Given the description of an element on the screen output the (x, y) to click on. 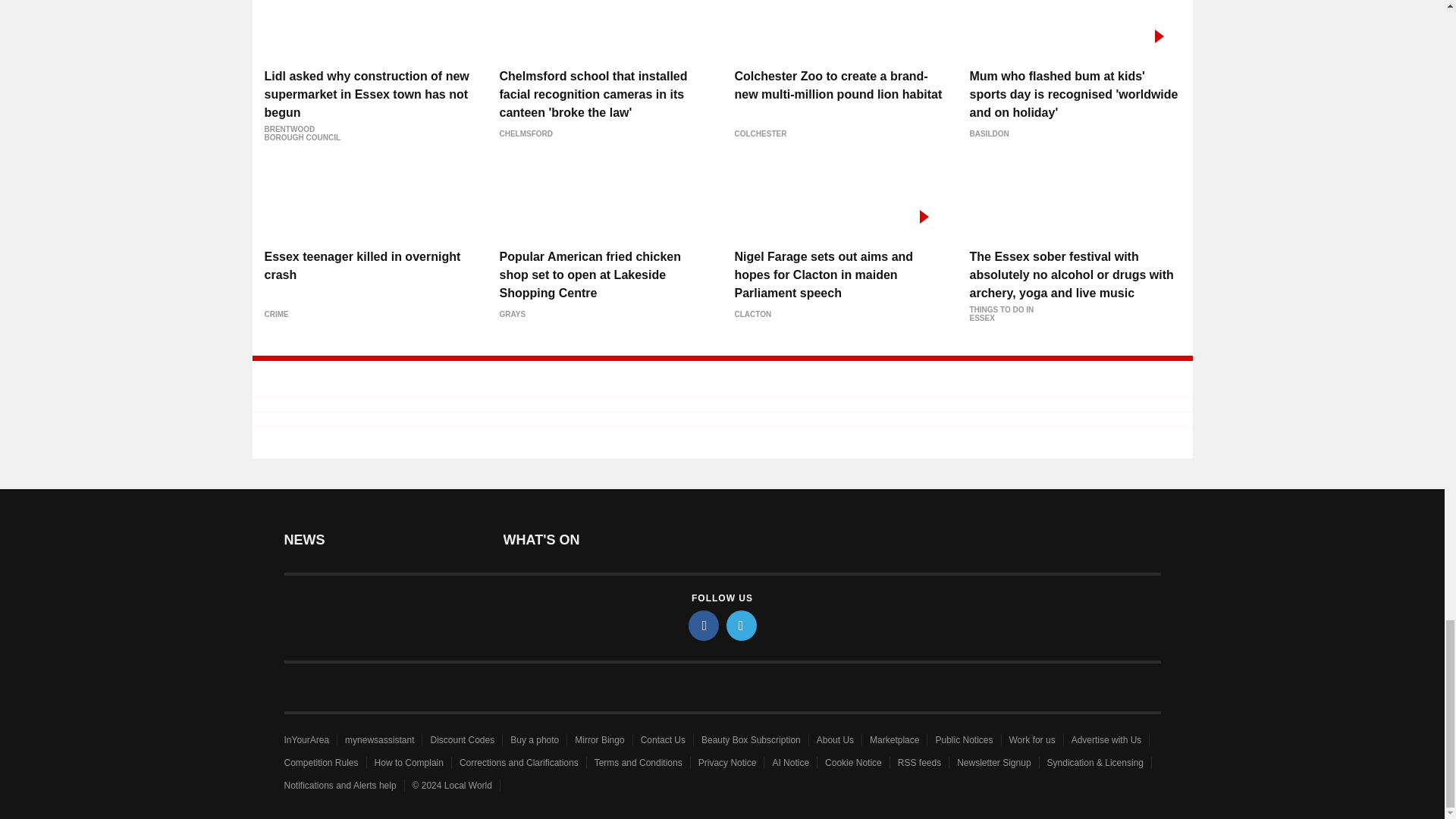
facebook (703, 625)
twitter (741, 625)
